Given the description of an element on the screen output the (x, y) to click on. 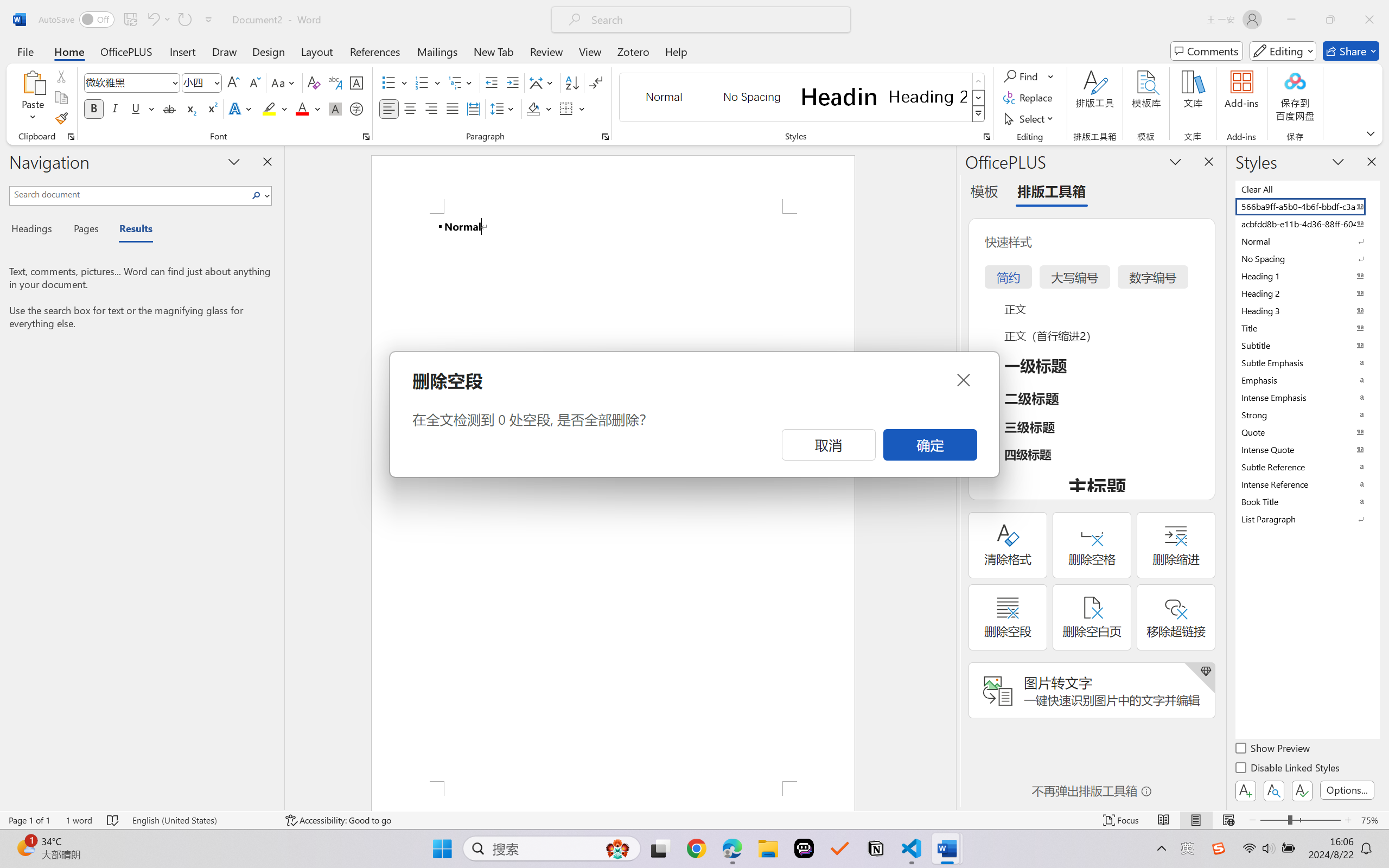
Font (132, 82)
Home (69, 51)
Text Highlight Color Yellow (269, 108)
Bold (94, 108)
Font Size (201, 82)
Strong (1306, 414)
Title (1306, 327)
Close (962, 379)
Search (256, 195)
